Given the description of an element on the screen output the (x, y) to click on. 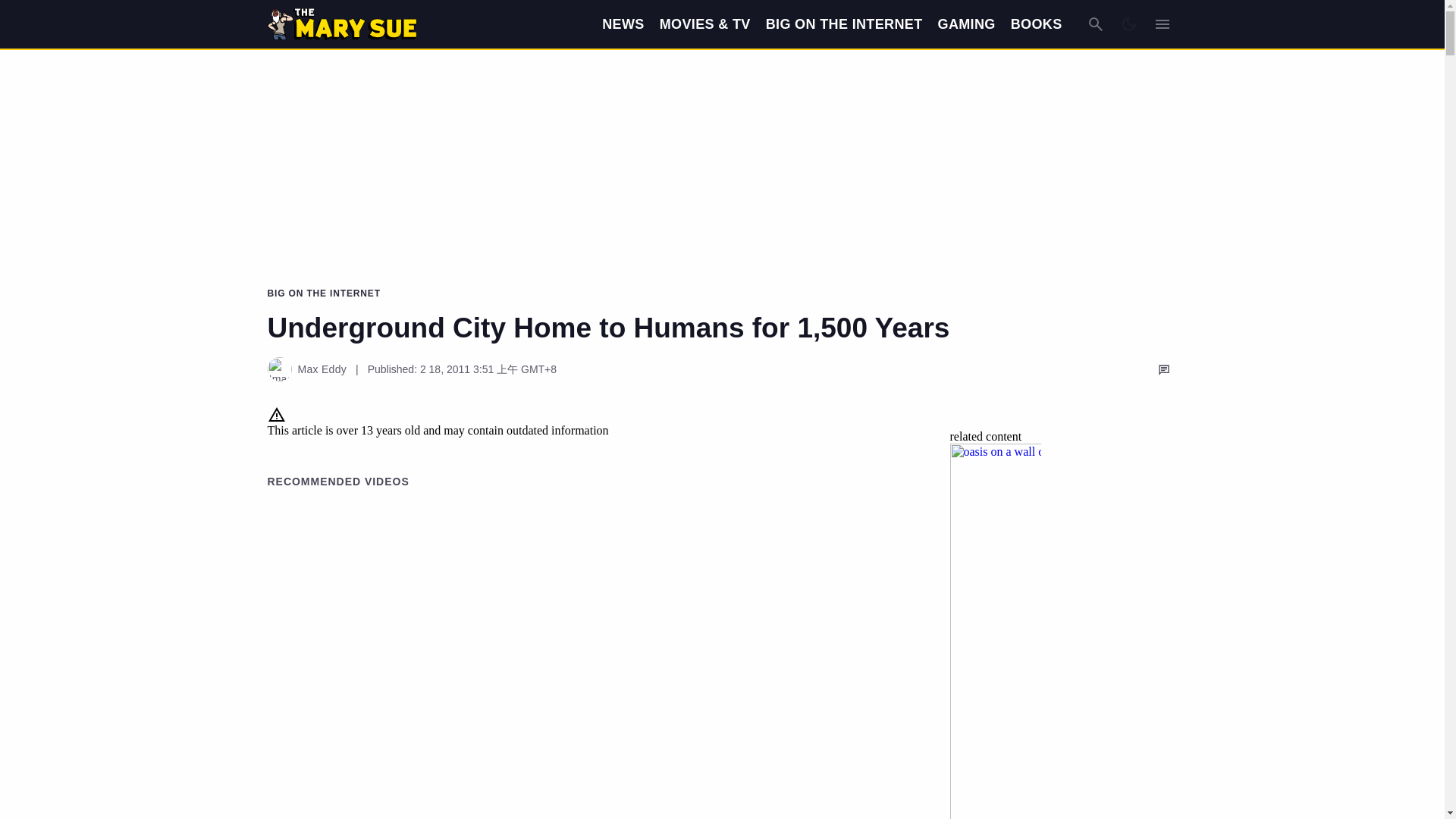
GAMING (966, 23)
BOOKS (1036, 23)
Expand Menu (1161, 24)
BIG ON THE INTERNET (844, 23)
NEWS (622, 23)
Search (1094, 24)
Dark Mode (1127, 24)
